Given the description of an element on the screen output the (x, y) to click on. 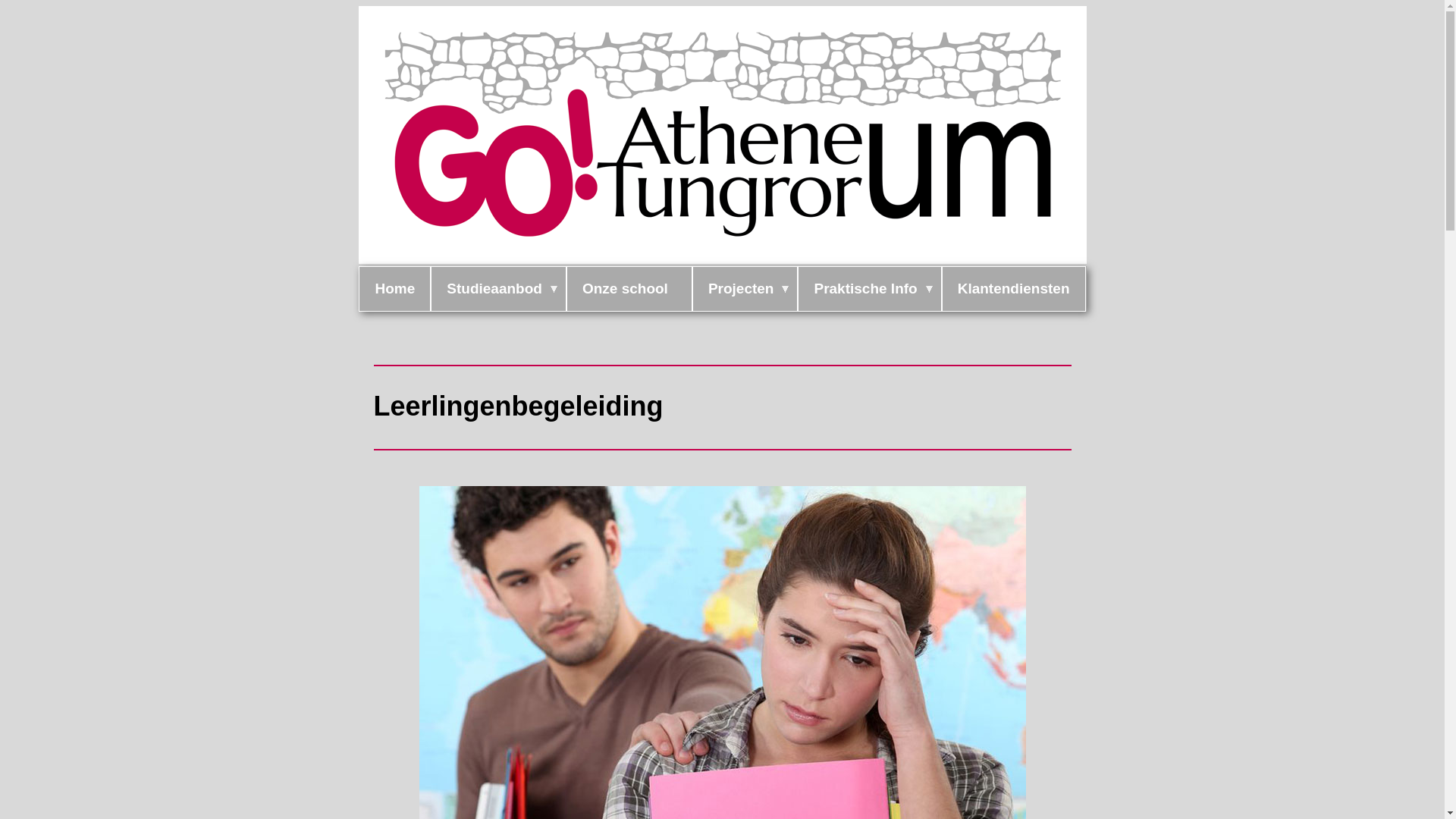
Klantendiensten Element type: text (1013, 288)
Onze school Element type: text (629, 288)
Projecten Element type: text (745, 288)
Praktische Info Element type: text (869, 288)
Home Element type: text (394, 288)
Studieaanbod Element type: text (498, 288)
